Given the description of an element on the screen output the (x, y) to click on. 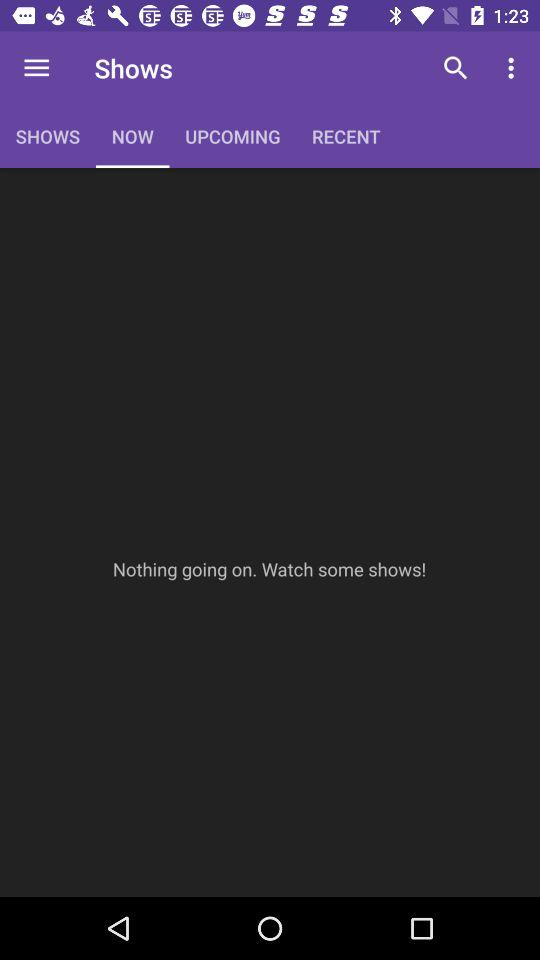
tap item to the right of recent item (455, 67)
